Given the description of an element on the screen output the (x, y) to click on. 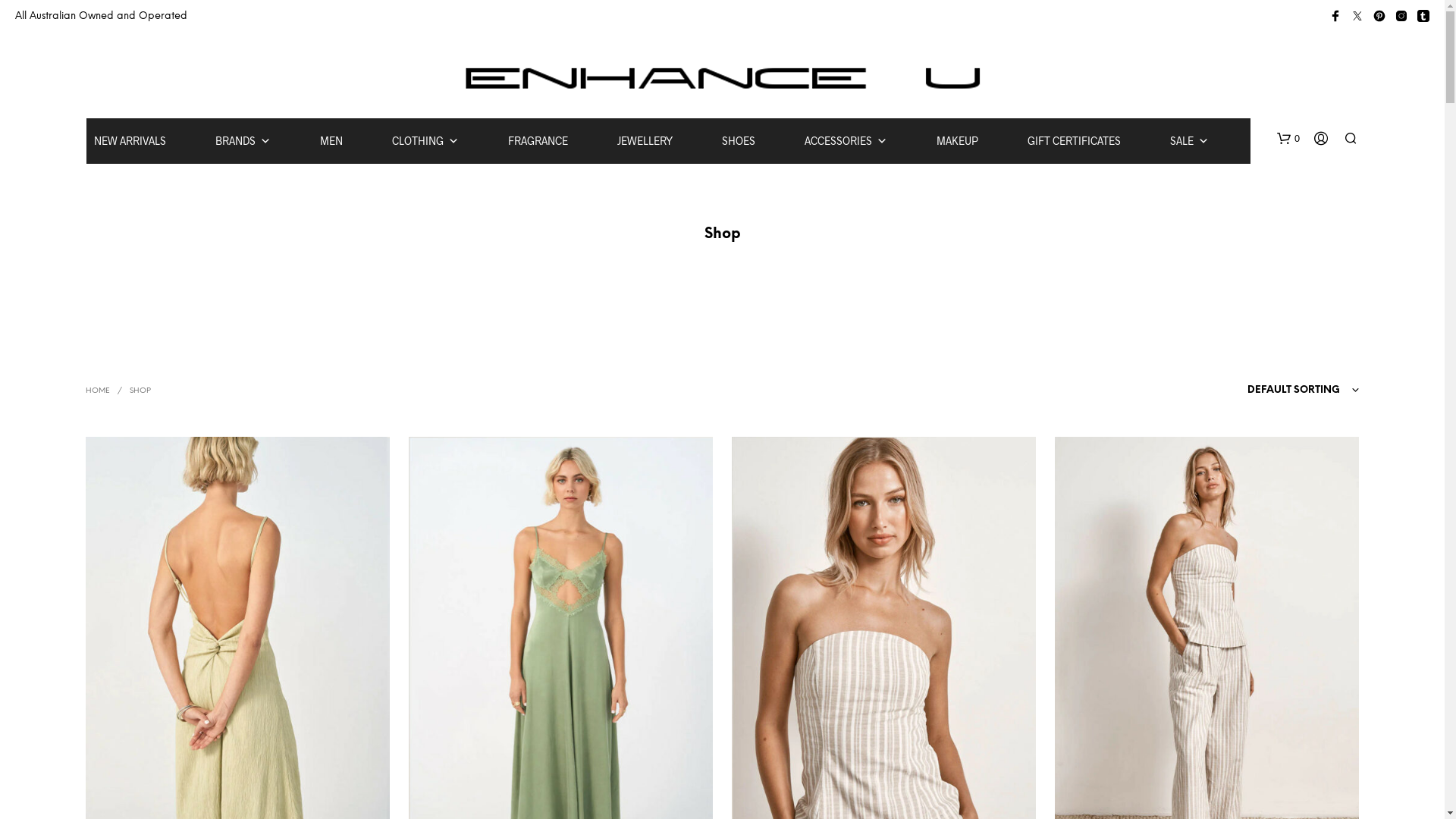
HOME Element type: text (96, 390)
MEN Element type: text (331, 140)
GIFT CERTIFICATES Element type: text (1073, 140)
JEWELLERY Element type: text (644, 140)
NEW ARRIVALS Element type: text (129, 140)
SHOES Element type: text (738, 140)
ACCESSORIES Element type: text (845, 140)
SALE Element type: text (1188, 140)
FRAGRANCE Element type: text (537, 140)
CLOTHING Element type: text (424, 140)
MAKEUP Element type: text (956, 140)
0 Element type: text (1288, 138)
BRANDS Element type: text (242, 140)
